Given the description of an element on the screen output the (x, y) to click on. 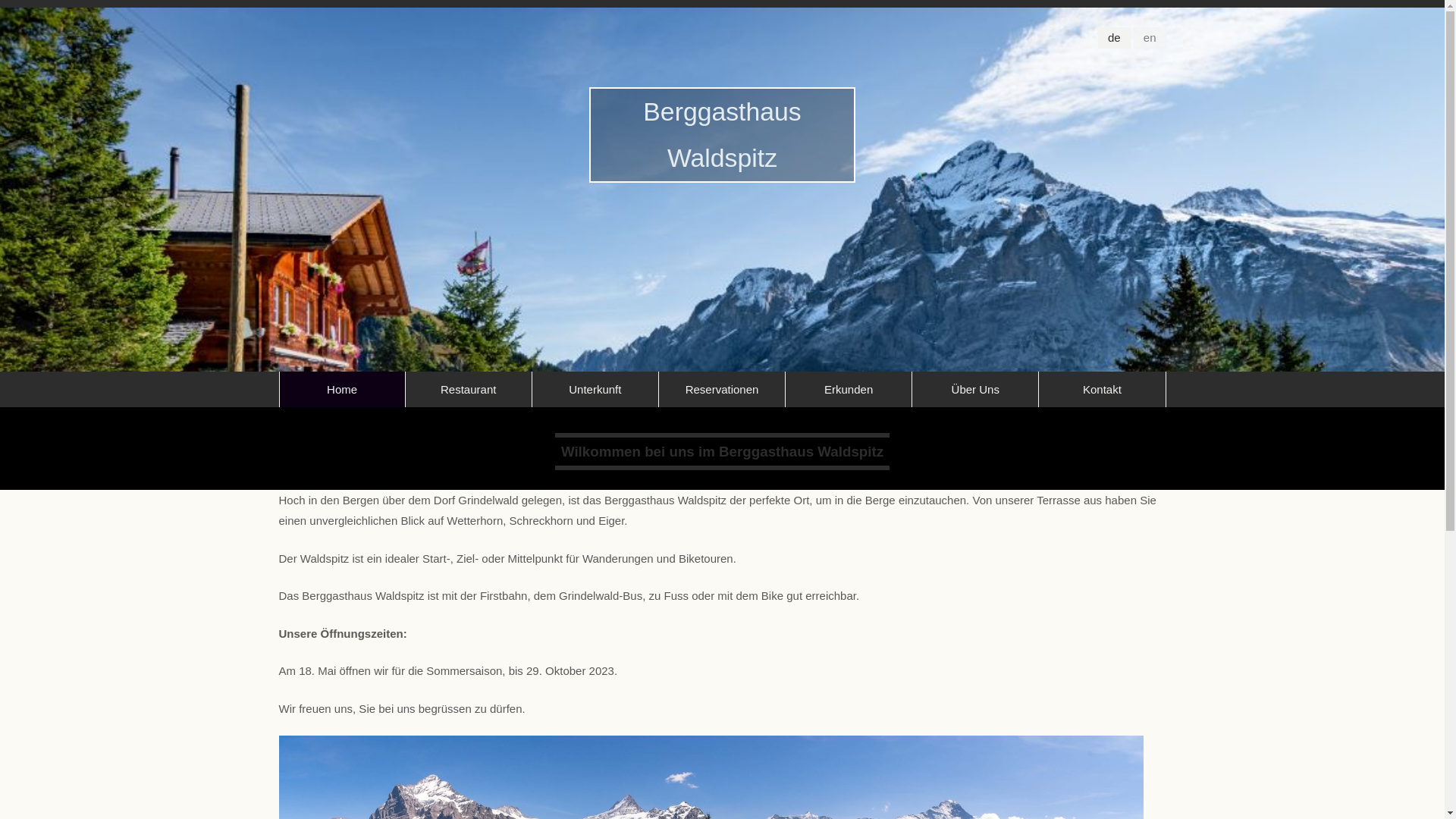
Reservationen Element type: text (721, 389)
Unterkunft Element type: text (595, 389)
Kontakt Element type: text (1101, 389)
en Element type: text (1149, 37)
de Element type: text (1113, 37)
Erkunden Element type: text (848, 389)
Restaurant Element type: text (468, 389)
Home Element type: text (341, 389)
